Given the description of an element on the screen output the (x, y) to click on. 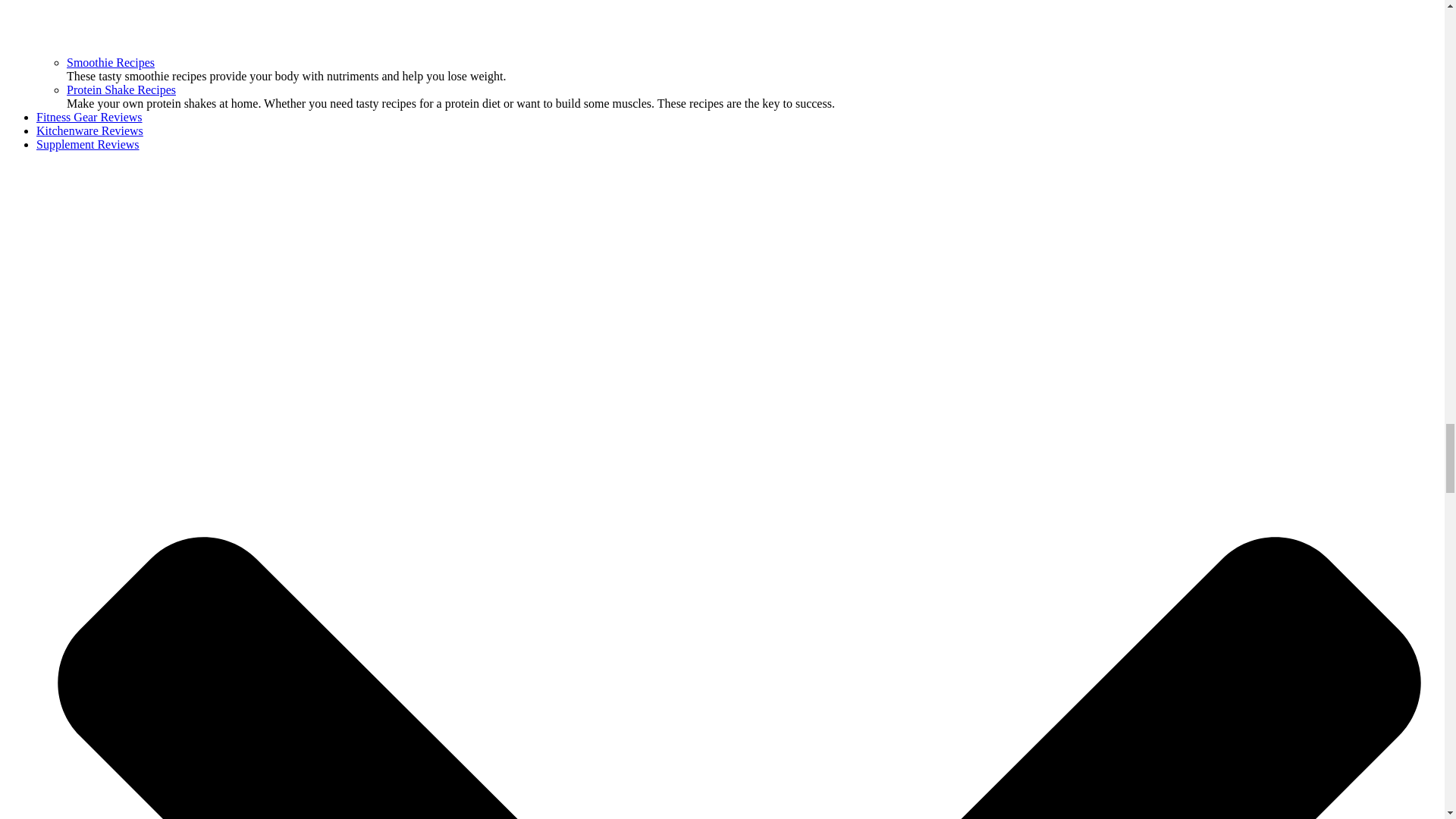
Supplement Reviews (87, 144)
Fitness Gear Reviews (89, 116)
Smoothie Recipes (110, 62)
Protein Shake Recipes (121, 89)
Kitchenware Reviews (89, 130)
